Given the description of an element on the screen output the (x, y) to click on. 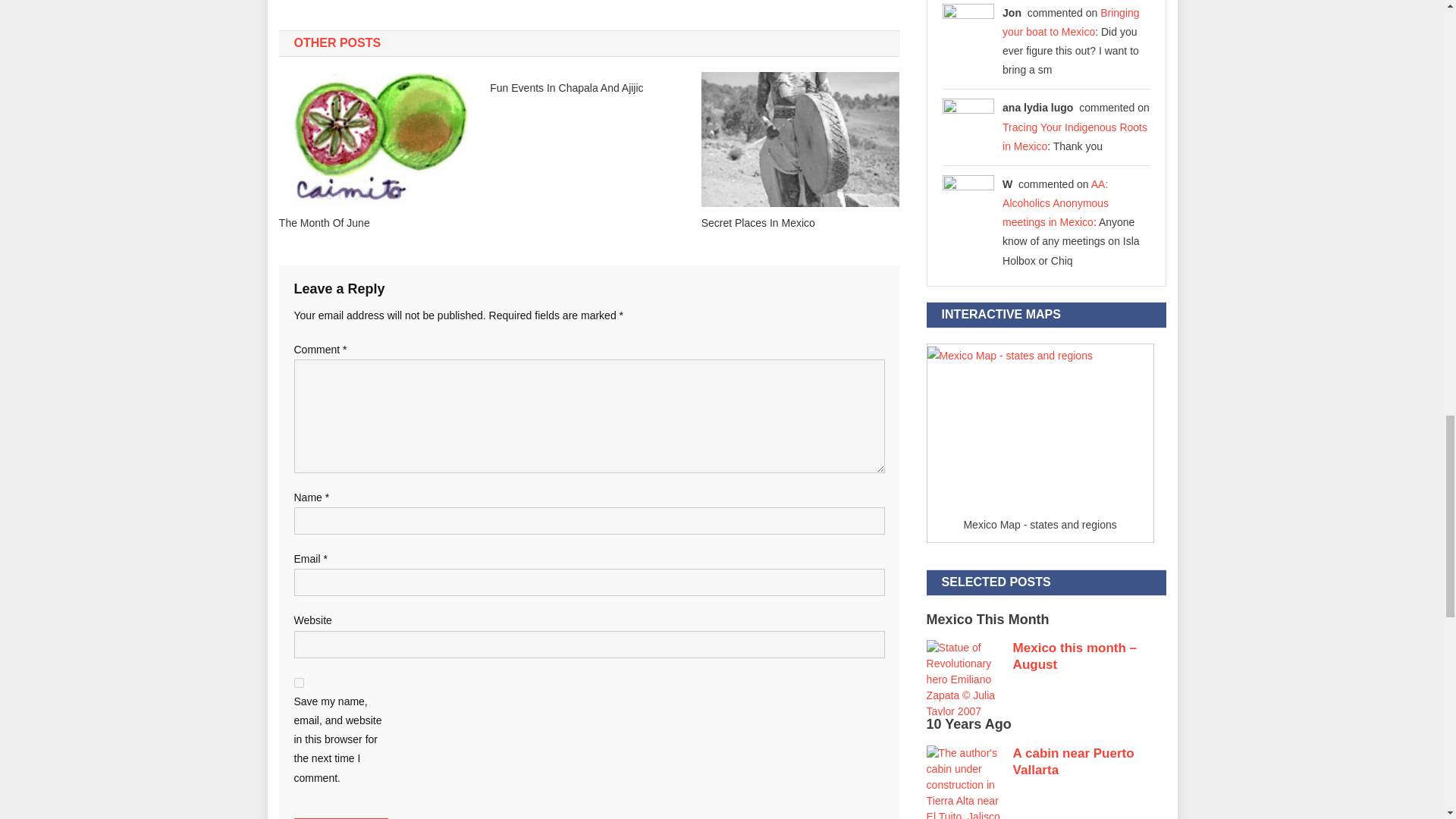
Bringing your boat to Mexico (1071, 21)
AA: Alcoholics Anonymous meetings in Mexico (1055, 203)
yes (299, 682)
Tracing Your Indigenous Roots in Mexico (1075, 136)
